Given the description of an element on the screen output the (x, y) to click on. 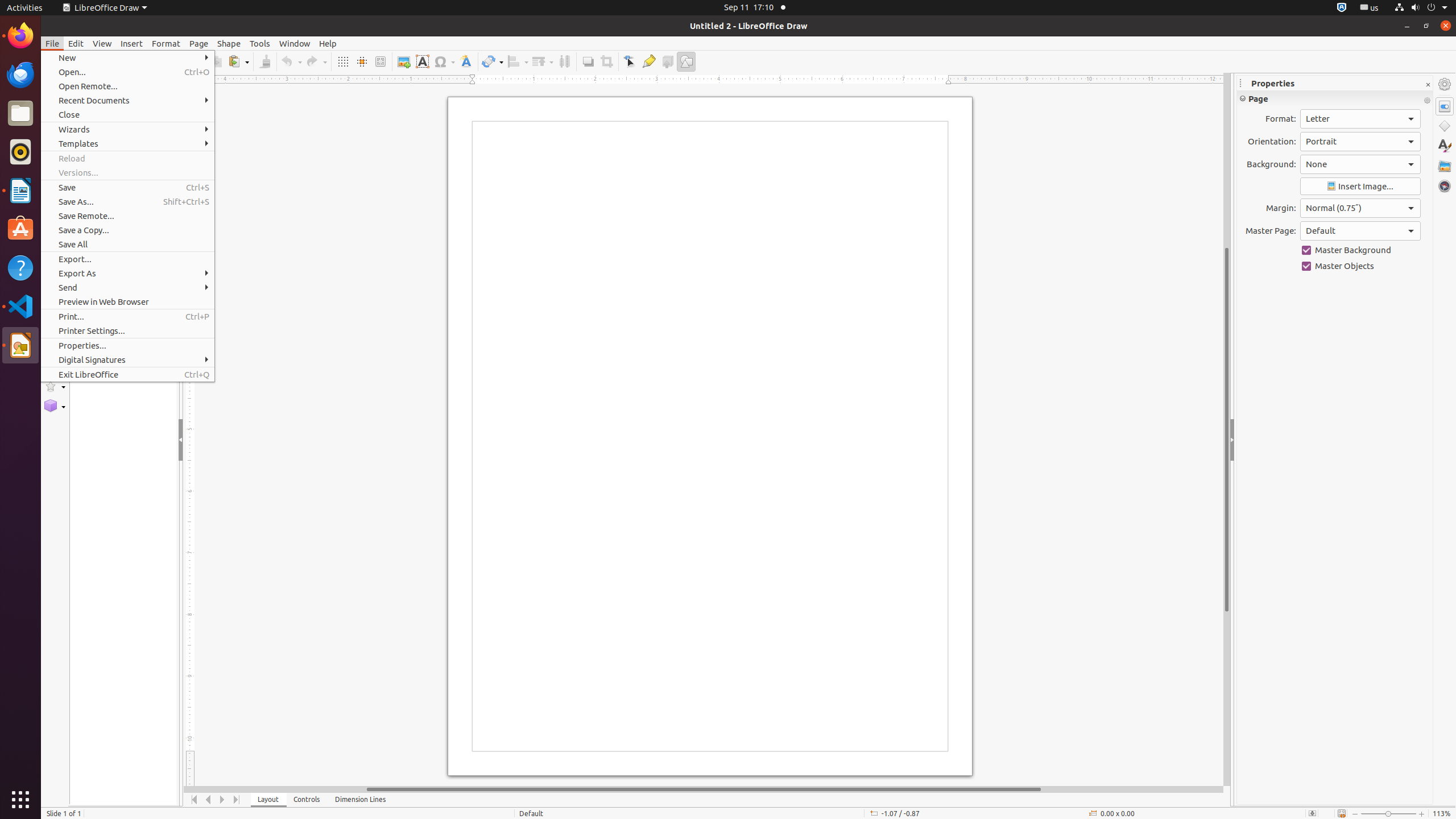
Arrange Element type: push-button (542, 61)
Clone Element type: push-button (264, 61)
Helplines While Moving Element type: toggle-button (361, 61)
Zoom & Pan Element type: push-button (379, 61)
Horizontal scroll bar Element type: scroll-bar (703, 789)
